Given the description of an element on the screen output the (x, y) to click on. 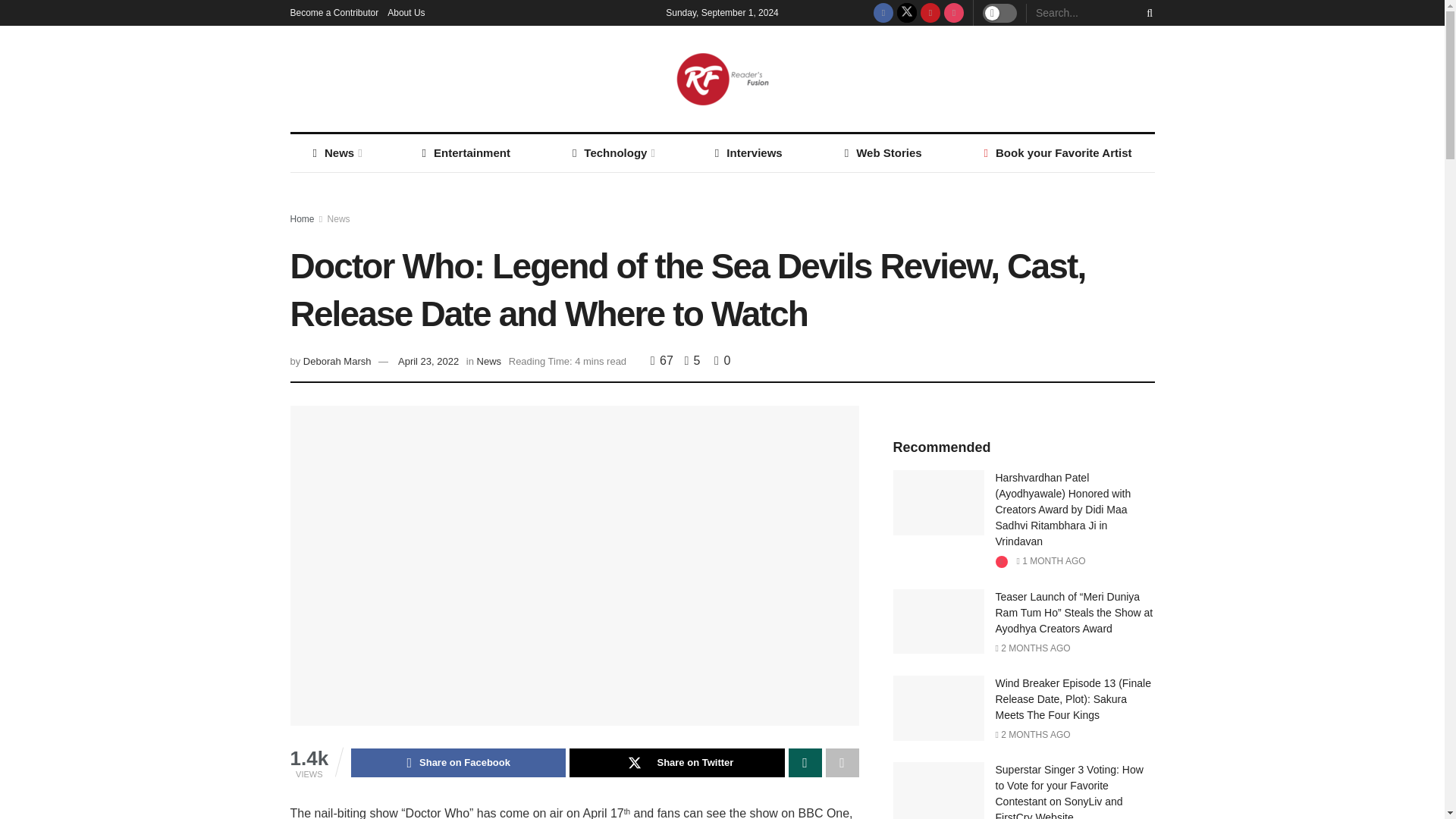
Entertainment (465, 152)
Technology (612, 152)
News (335, 152)
Become a Contributor (333, 12)
About Us (406, 12)
